Given the description of an element on the screen output the (x, y) to click on. 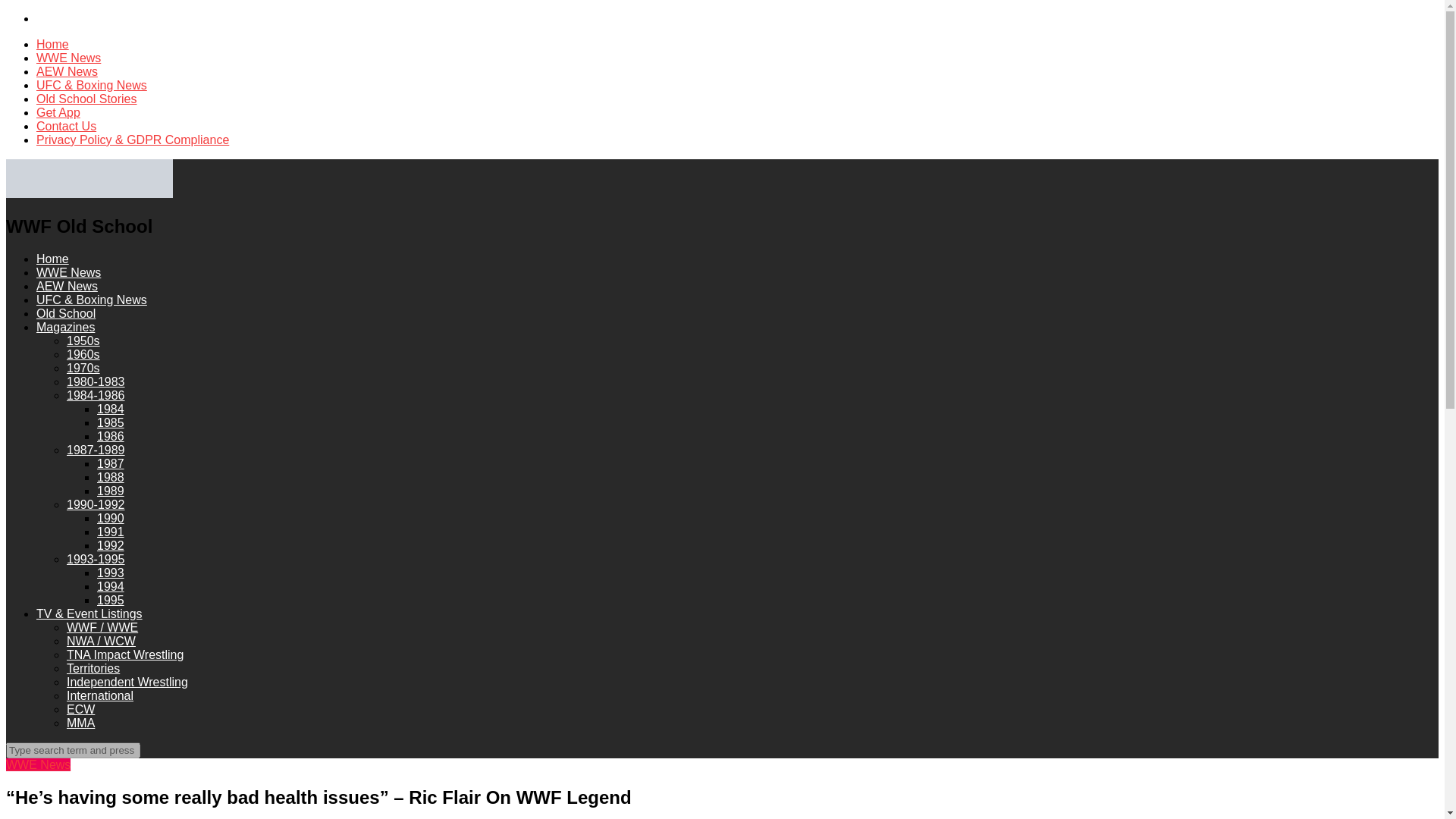
AEW News (66, 71)
1970s (83, 367)
Magazines (65, 327)
Get App (58, 112)
1984-1986 (95, 395)
WWE News (68, 272)
1980-1983 (95, 381)
Old School Stories (86, 98)
1993 (110, 572)
AEW News (66, 286)
